Given the description of an element on the screen output the (x, y) to click on. 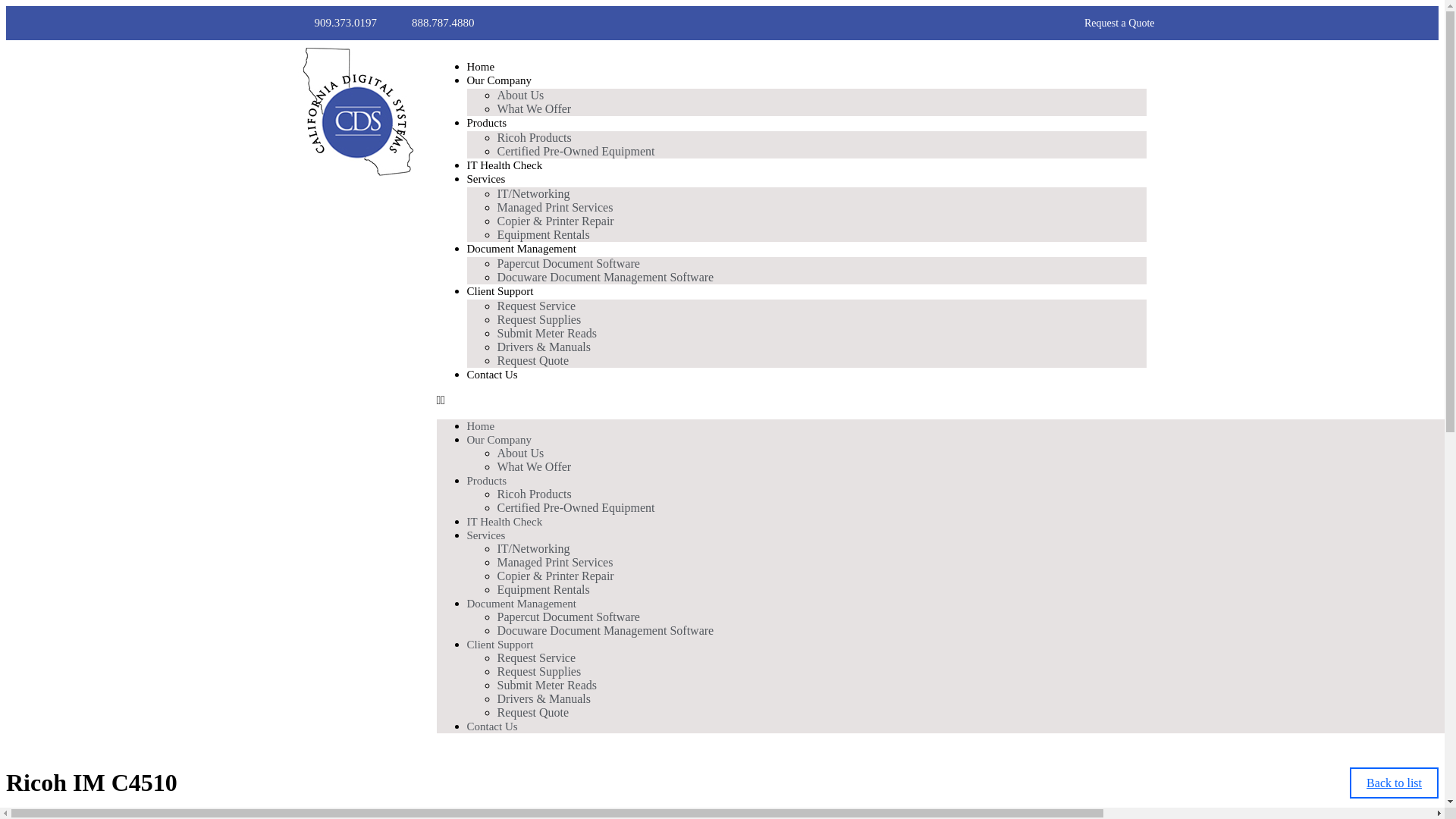
Ricoh Products (534, 494)
Document Management (521, 248)
Services (486, 535)
Home (481, 66)
Request Service (536, 305)
Our Company (499, 80)
What We Offer (534, 466)
Home (481, 425)
888.787.4880 (430, 22)
IT Health Check (505, 521)
What We Offer (534, 108)
Certified Pre-Owned Equipment (576, 507)
Products (486, 122)
About Us (520, 95)
909.373.0197 (333, 22)
